Given the description of an element on the screen output the (x, y) to click on. 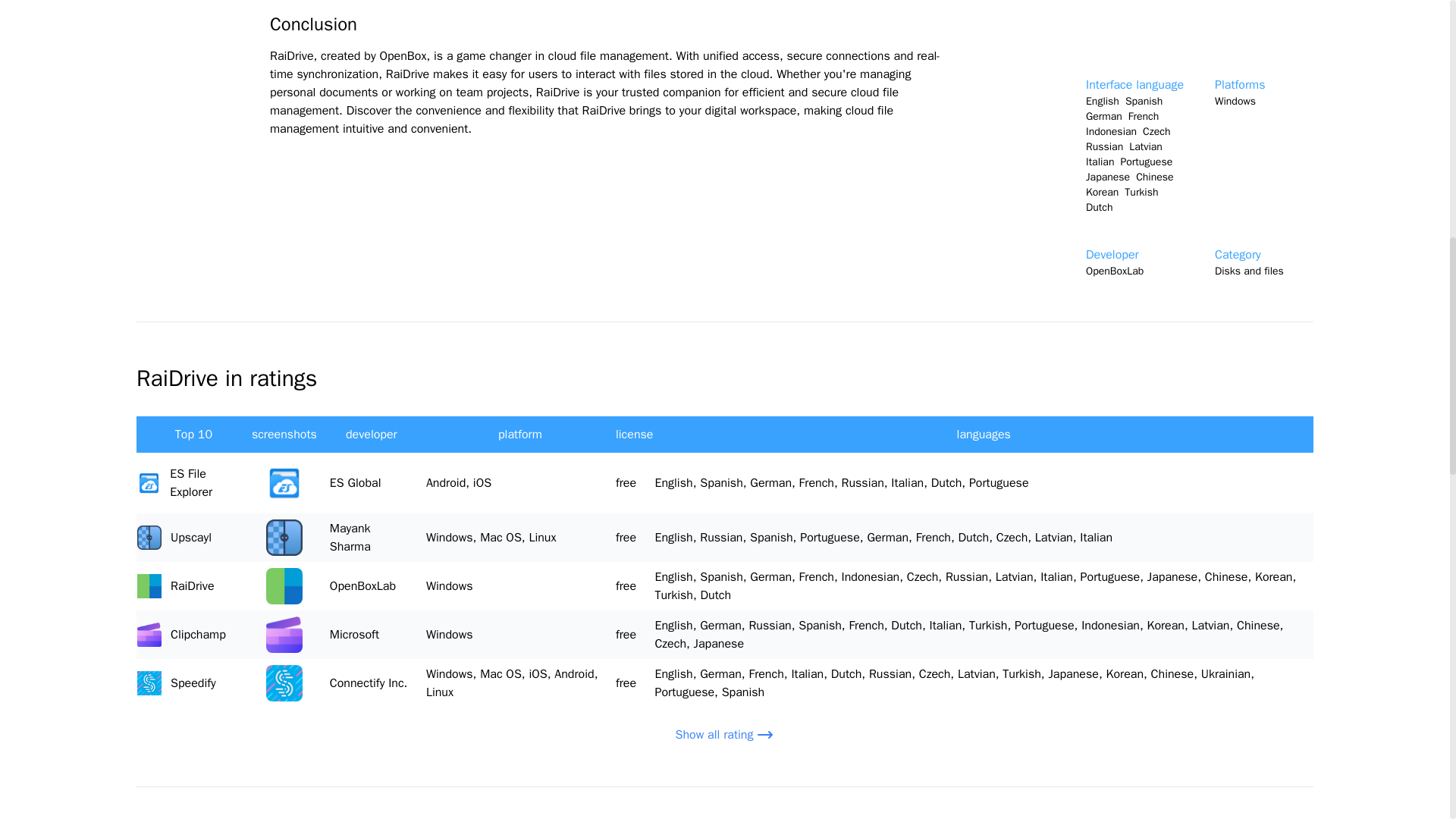
Show all rating (724, 734)
Advertisement (1199, 33)
